Given the description of an element on the screen output the (x, y) to click on. 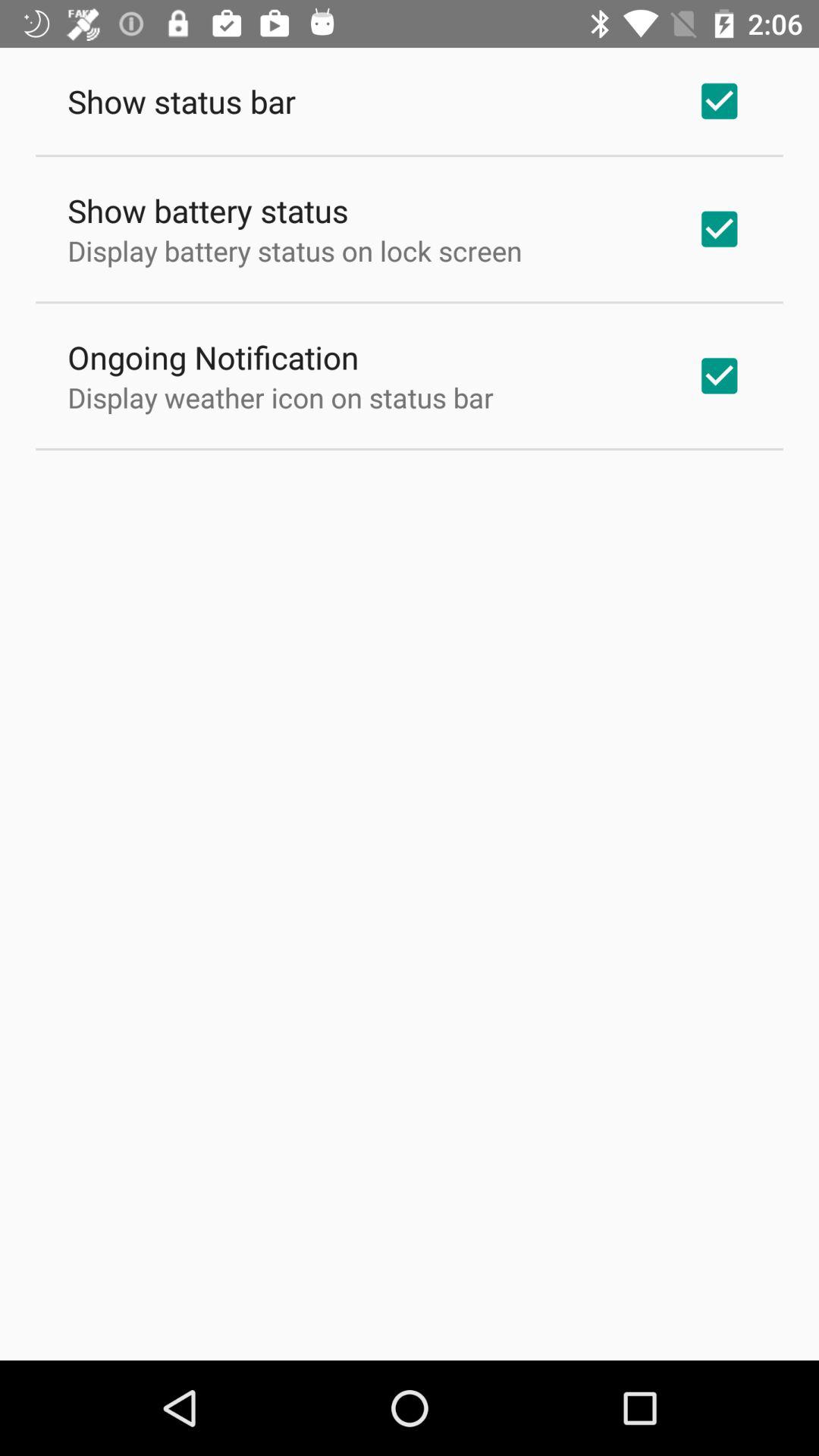
swipe to the display weather icon icon (280, 397)
